Given the description of an element on the screen output the (x, y) to click on. 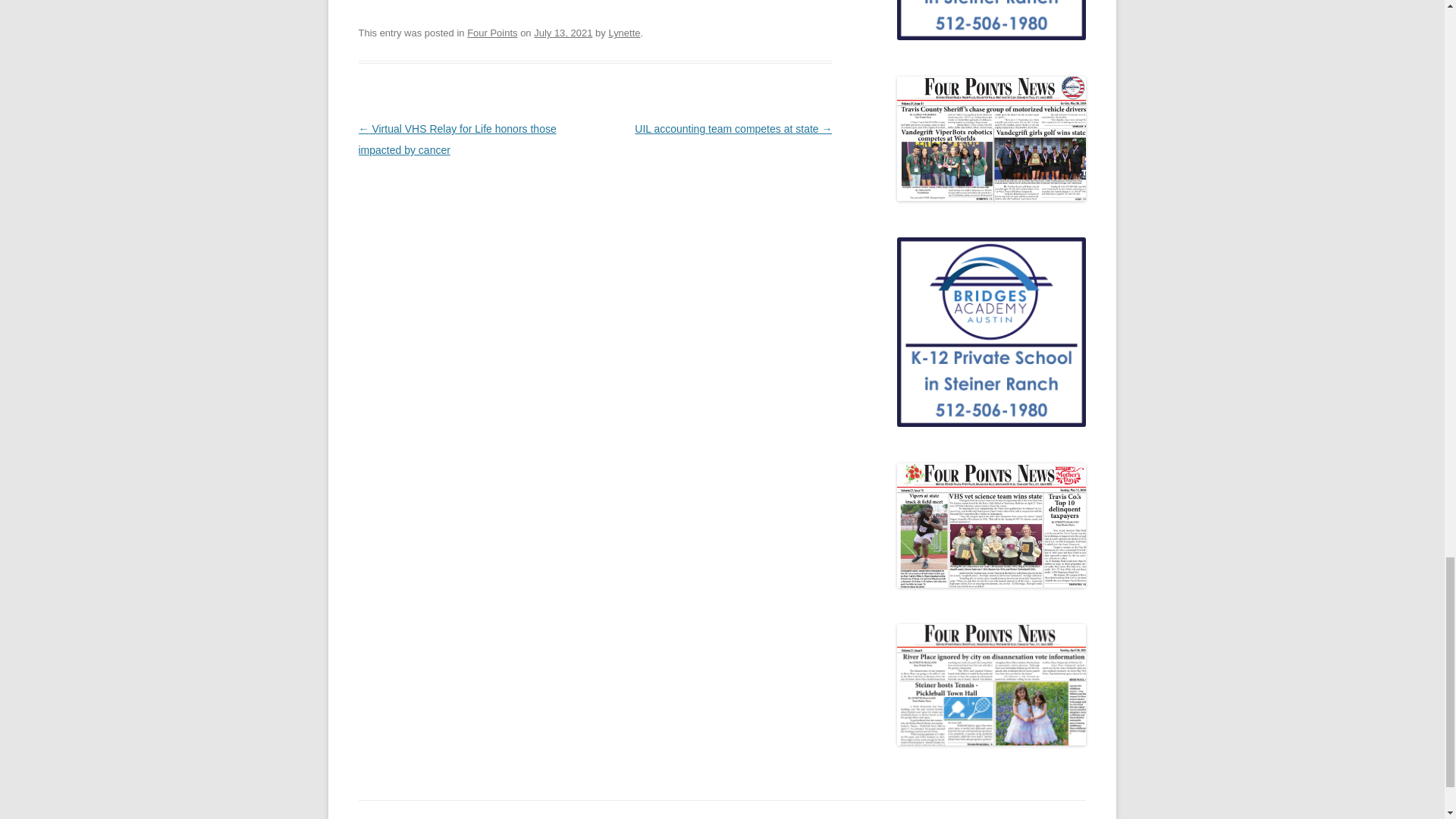
July 13, 2021 (563, 32)
Four Points (491, 32)
View all posts by Lynette (624, 32)
Lynette (624, 32)
8:23 am (563, 32)
